Given the description of an element on the screen output the (x, y) to click on. 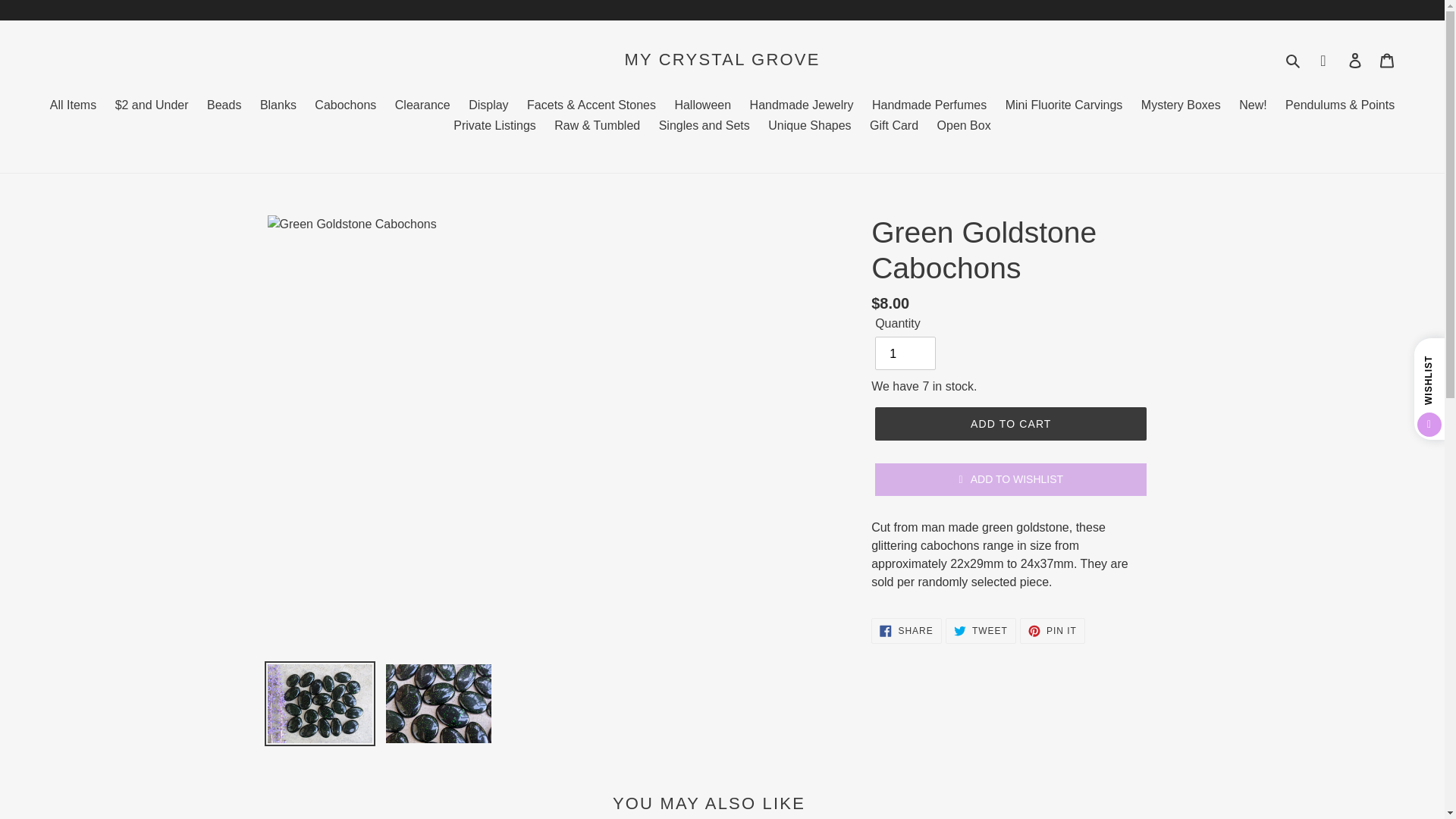
Blanks (277, 106)
Log in (1355, 59)
1 (905, 353)
Clearance (422, 106)
Cart (1387, 59)
MY CRYSTAL GROVE (721, 59)
All Items (72, 106)
Search (1294, 59)
Cabochons (345, 106)
Beads (223, 106)
Display (488, 106)
